Given the description of an element on the screen output the (x, y) to click on. 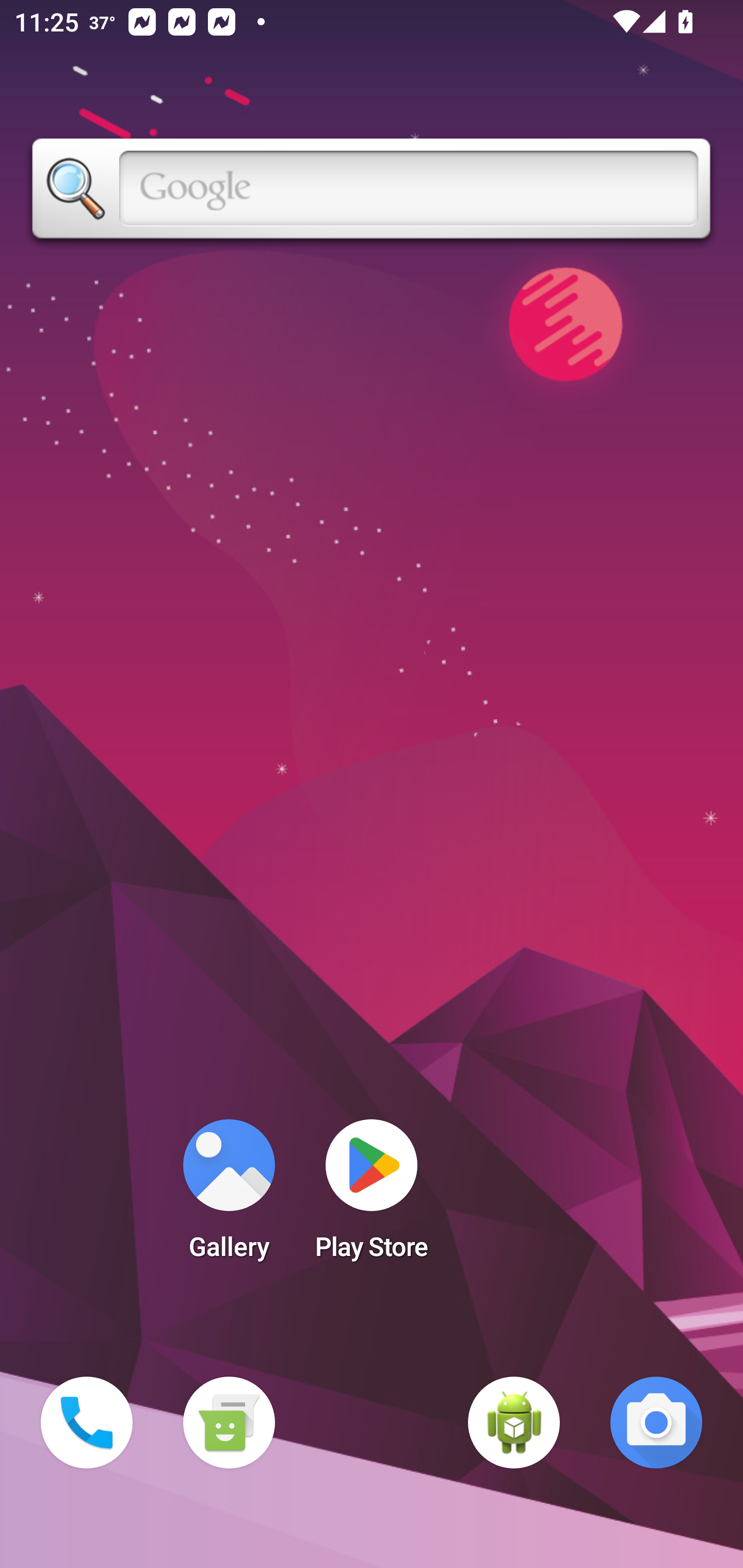
Gallery (228, 1195)
Play Store (371, 1195)
Phone (86, 1422)
Messaging (228, 1422)
WebView Browser Tester (513, 1422)
Camera (656, 1422)
